Given the description of an element on the screen output the (x, y) to click on. 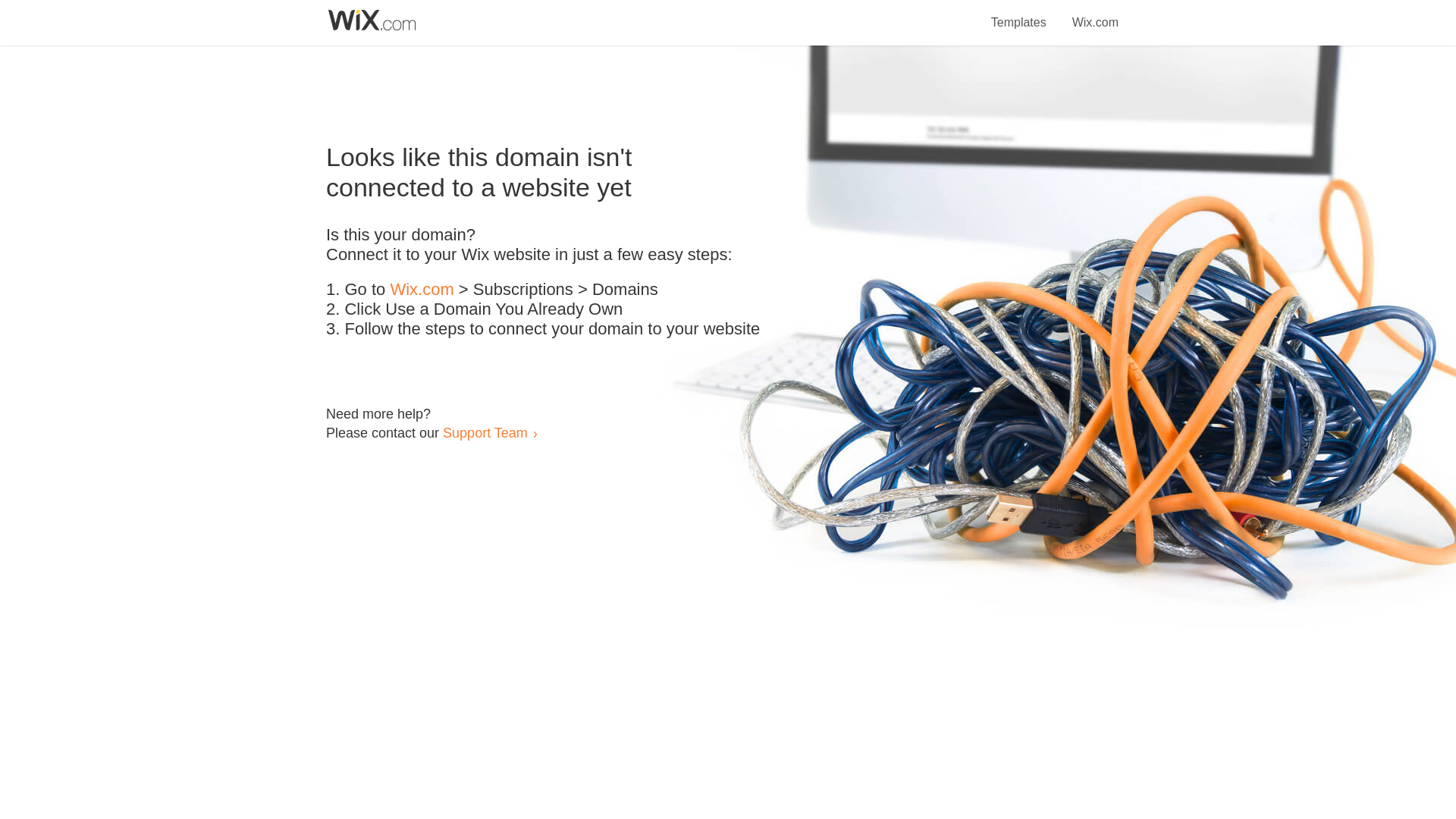
Wix.com (1095, 14)
Templates (1018, 14)
Wix.com (421, 289)
Support Team (484, 432)
